Given the description of an element on the screen output the (x, y) to click on. 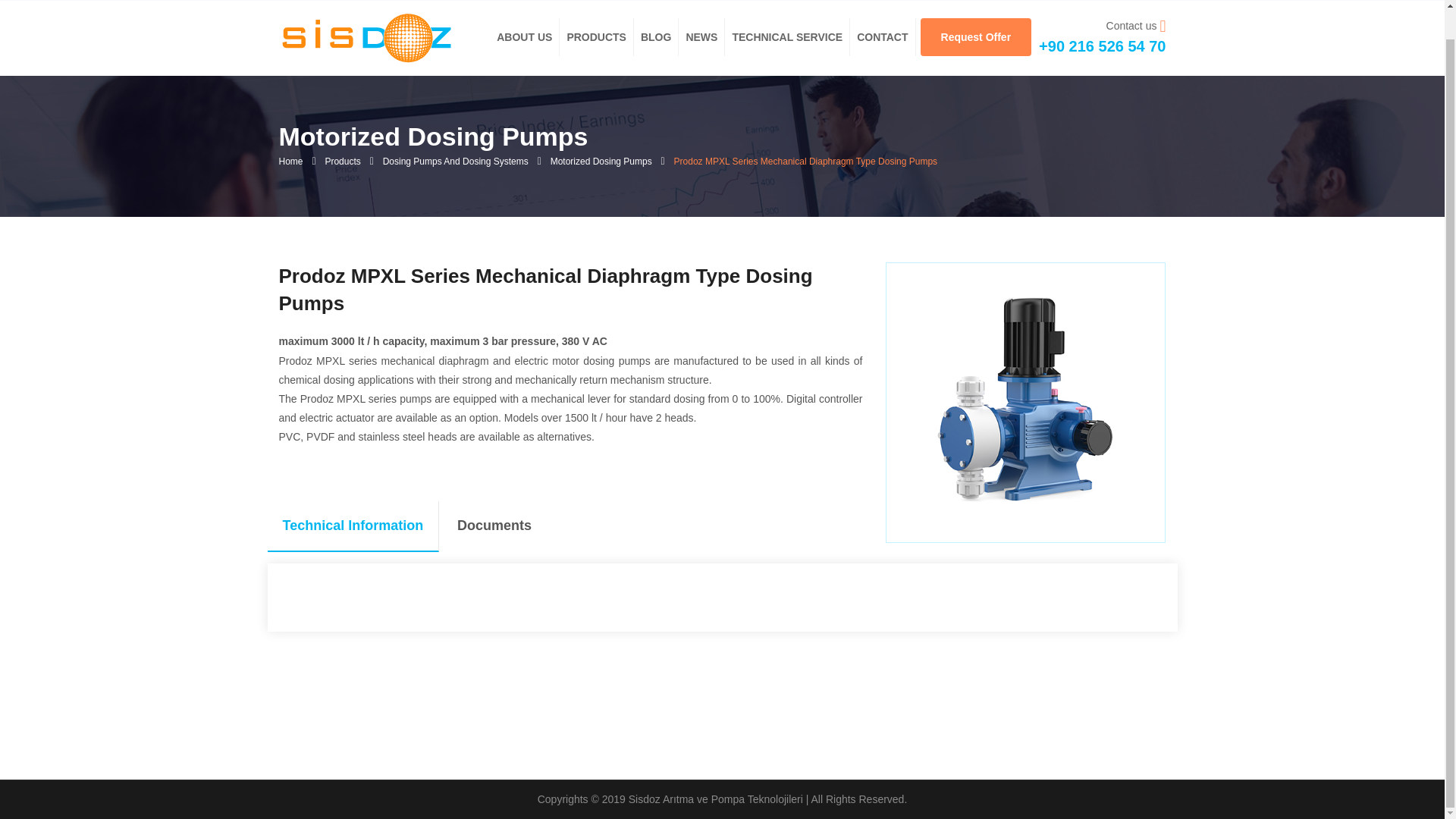
Prodoz MPXL Series Mechanical Diaphragm Type Dosing Pumps (365, 38)
PRODUCTS (596, 37)
ABOUT US (523, 37)
ABOUT US (523, 37)
PRODUCTS (596, 37)
Prodoz MPXL Series Mechanical Diaphragm Type Dosing Pumps (365, 37)
